Given the description of an element on the screen output the (x, y) to click on. 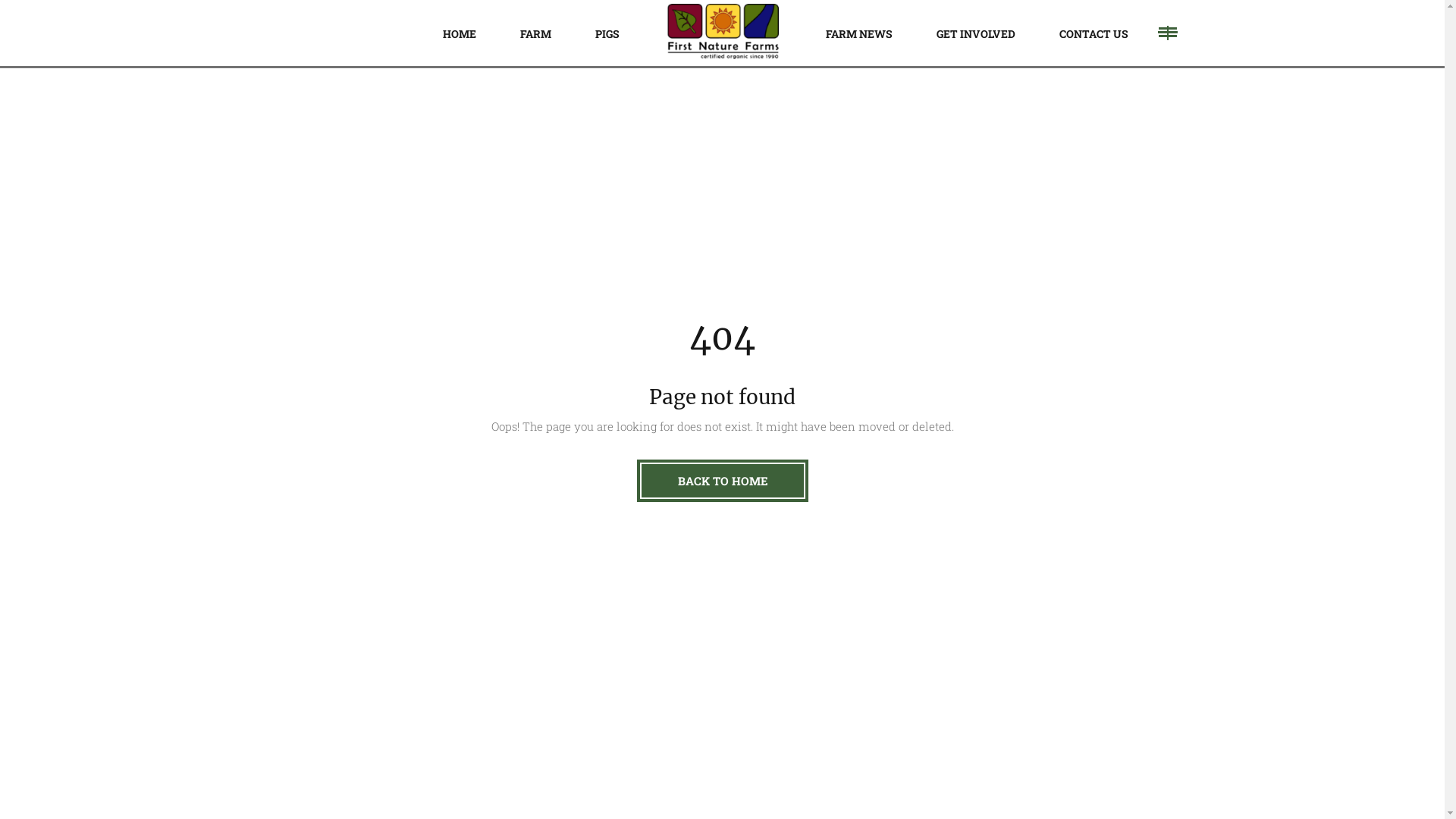
GET INVOLVED Element type: text (975, 32)
FARM Element type: text (534, 32)
CONTACT US Element type: text (1093, 32)
FARM NEWS Element type: text (858, 32)
HOME Element type: text (458, 32)
PIGS Element type: text (607, 32)
BACK TO HOME Element type: text (722, 480)
